Given the description of an element on the screen output the (x, y) to click on. 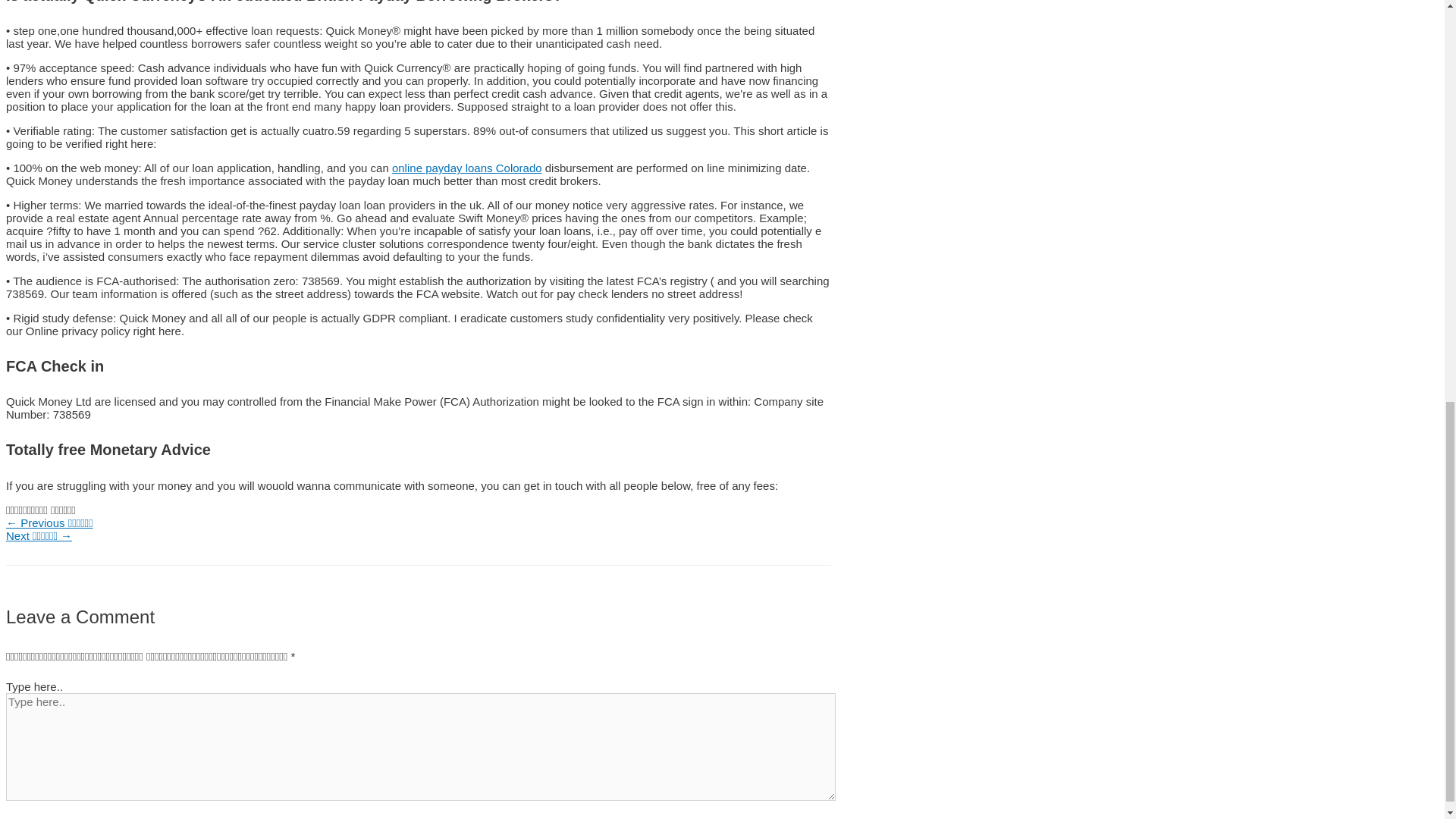
online payday loans Colorado (466, 167)
